Given the description of an element on the screen output the (x, y) to click on. 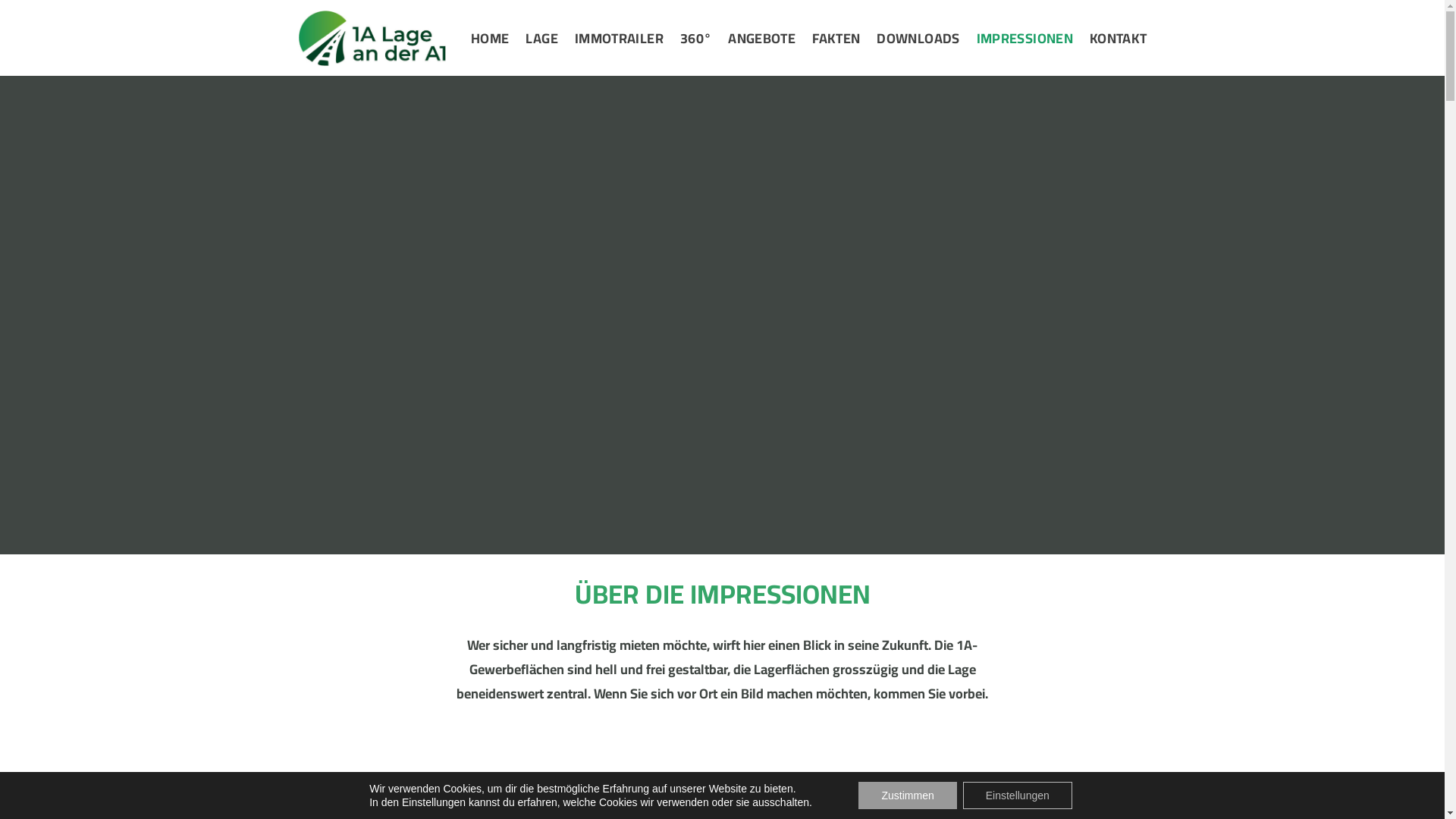
LAGE Element type: text (541, 38)
IMPRESSIONEN Element type: text (1024, 38)
FAKTEN Element type: text (835, 38)
IMMOTRAILER Element type: text (618, 38)
KONTAKT Element type: text (1118, 38)
ANGEBOTE Element type: text (761, 38)
DOWNLOADS Element type: text (917, 38)
Zustimmen Element type: text (907, 795)
Einstellungen Element type: text (1017, 795)
HOME Element type: text (489, 38)
